Given the description of an element on the screen output the (x, y) to click on. 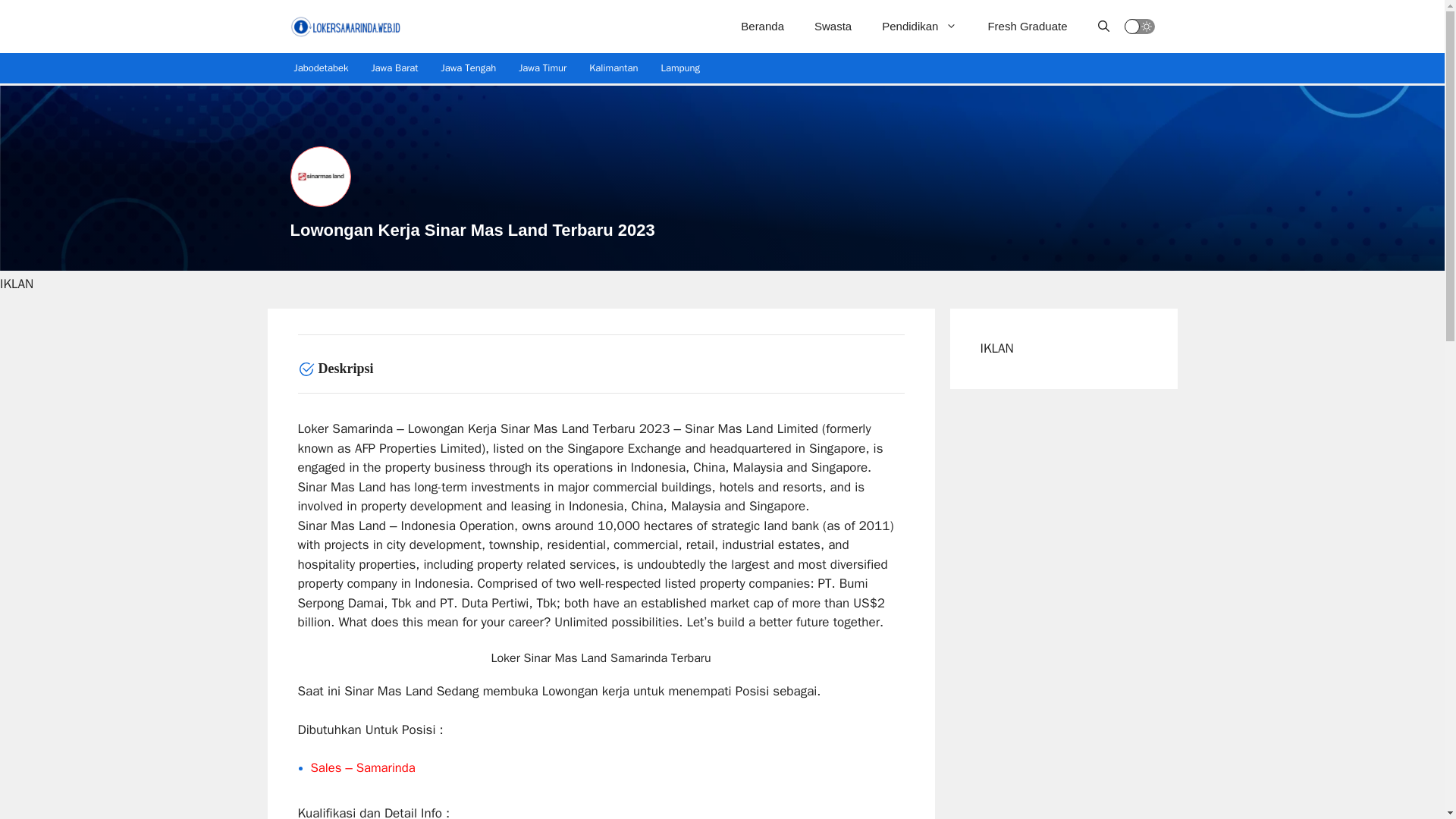
Fresh Graduate (1026, 26)
Swasta (832, 26)
Lampung (680, 68)
Kalimantan (613, 68)
Jawa Barat (394, 68)
Jabodetabek (320, 68)
Beranda (762, 26)
Jawa Tengah (467, 68)
Jawa Timur (542, 68)
Pendidikan (919, 26)
Loker Samarinda (346, 26)
